Given the description of an element on the screen output the (x, y) to click on. 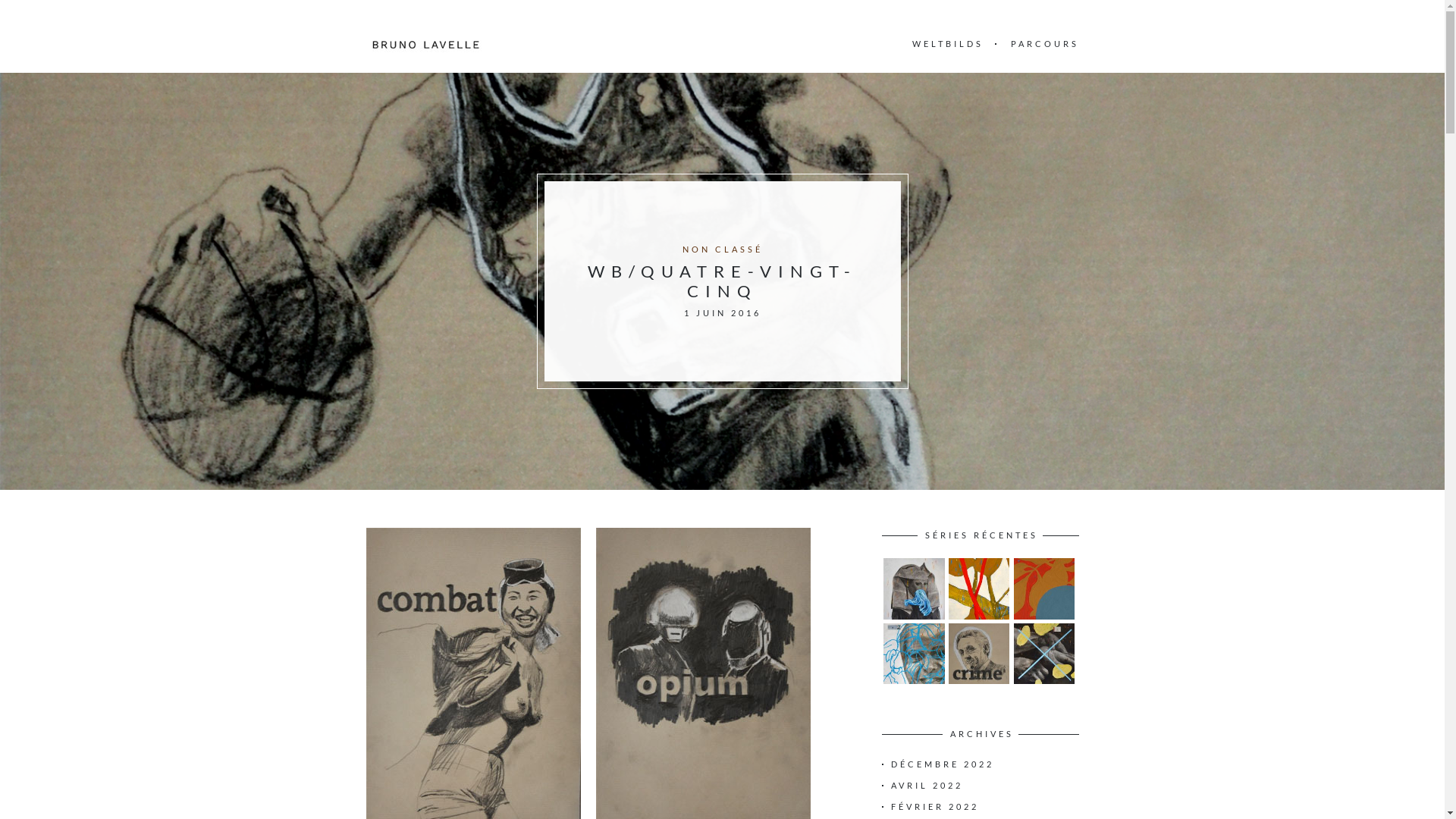
AVRIL 2022 Element type: text (926, 785)
PARCOURS Element type: text (1044, 43)
WELTBILDS Element type: text (946, 43)
